Given the description of an element on the screen output the (x, y) to click on. 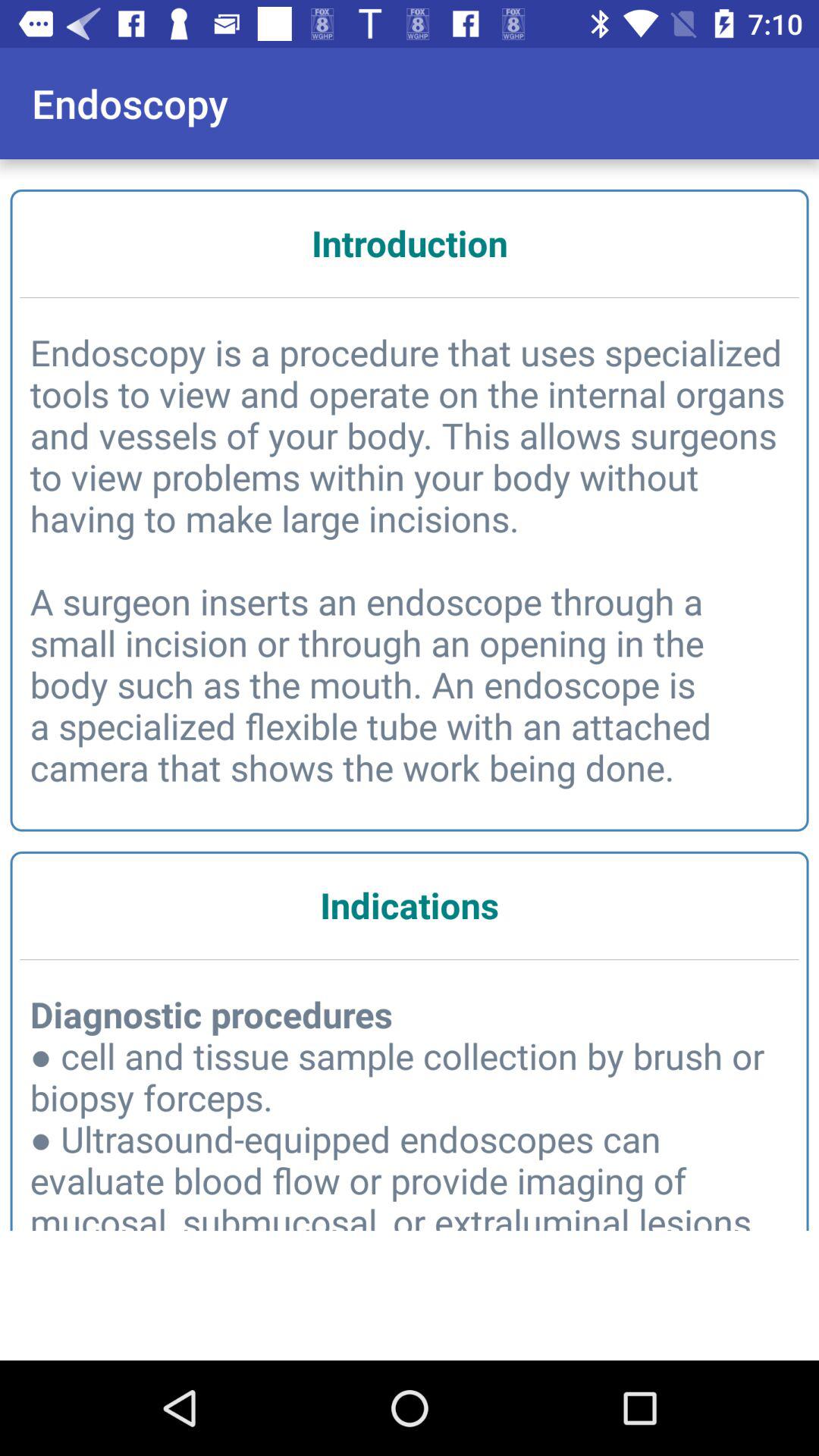
turn on diagnostic procedures cell item (409, 1115)
